Given the description of an element on the screen output the (x, y) to click on. 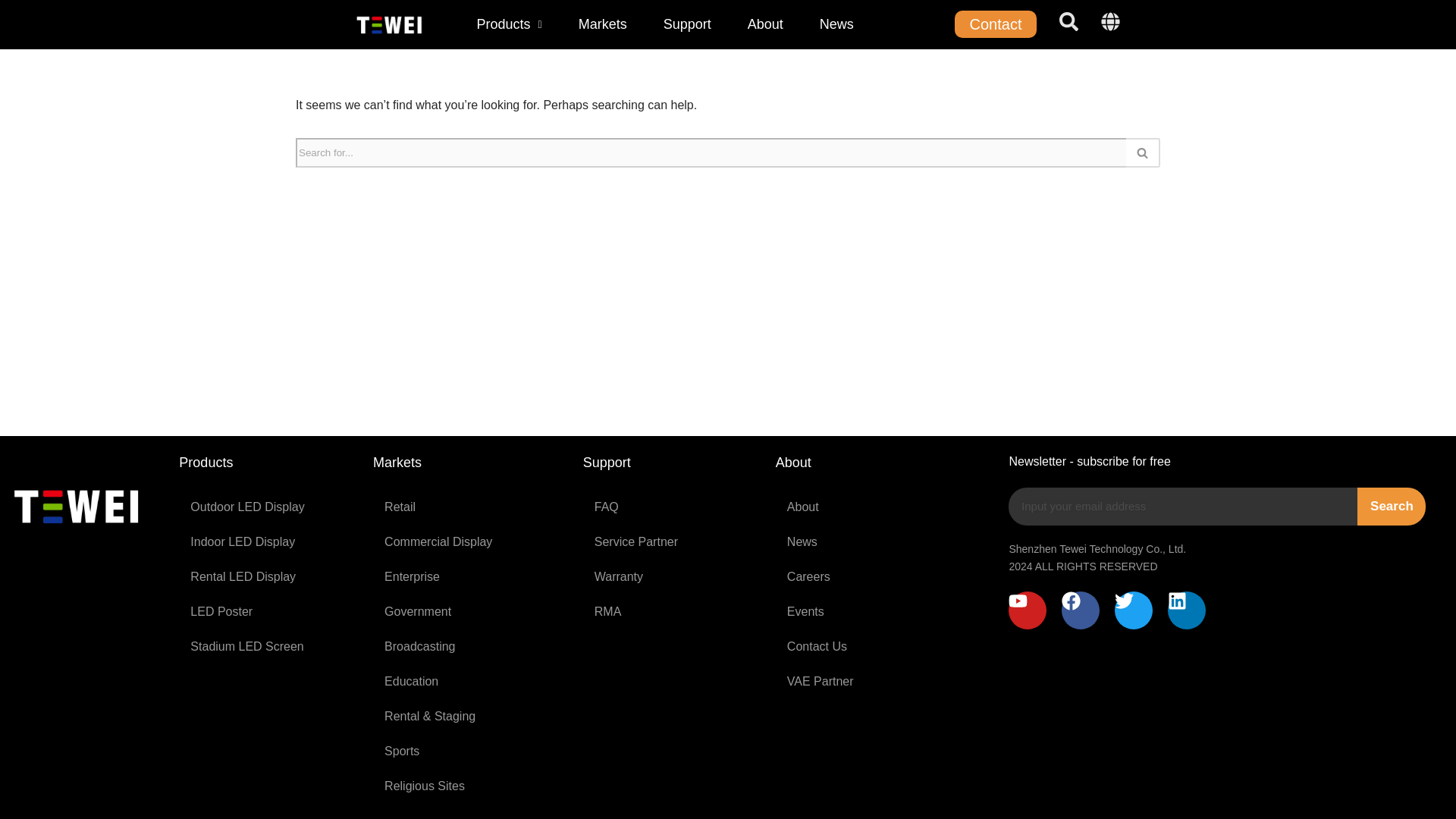
Outdoor LED Display (268, 506)
Commercial Display (469, 541)
Markets (603, 24)
Rental LED Display (268, 576)
Stadium LED Screen (268, 646)
Enterprise (469, 576)
News (836, 24)
LED Poster (268, 611)
Skip to content (11, 31)
Products (509, 24)
Retail (469, 506)
Contact (995, 23)
Indoor LED Display (268, 541)
Support (687, 24)
About (765, 24)
